Given the description of an element on the screen output the (x, y) to click on. 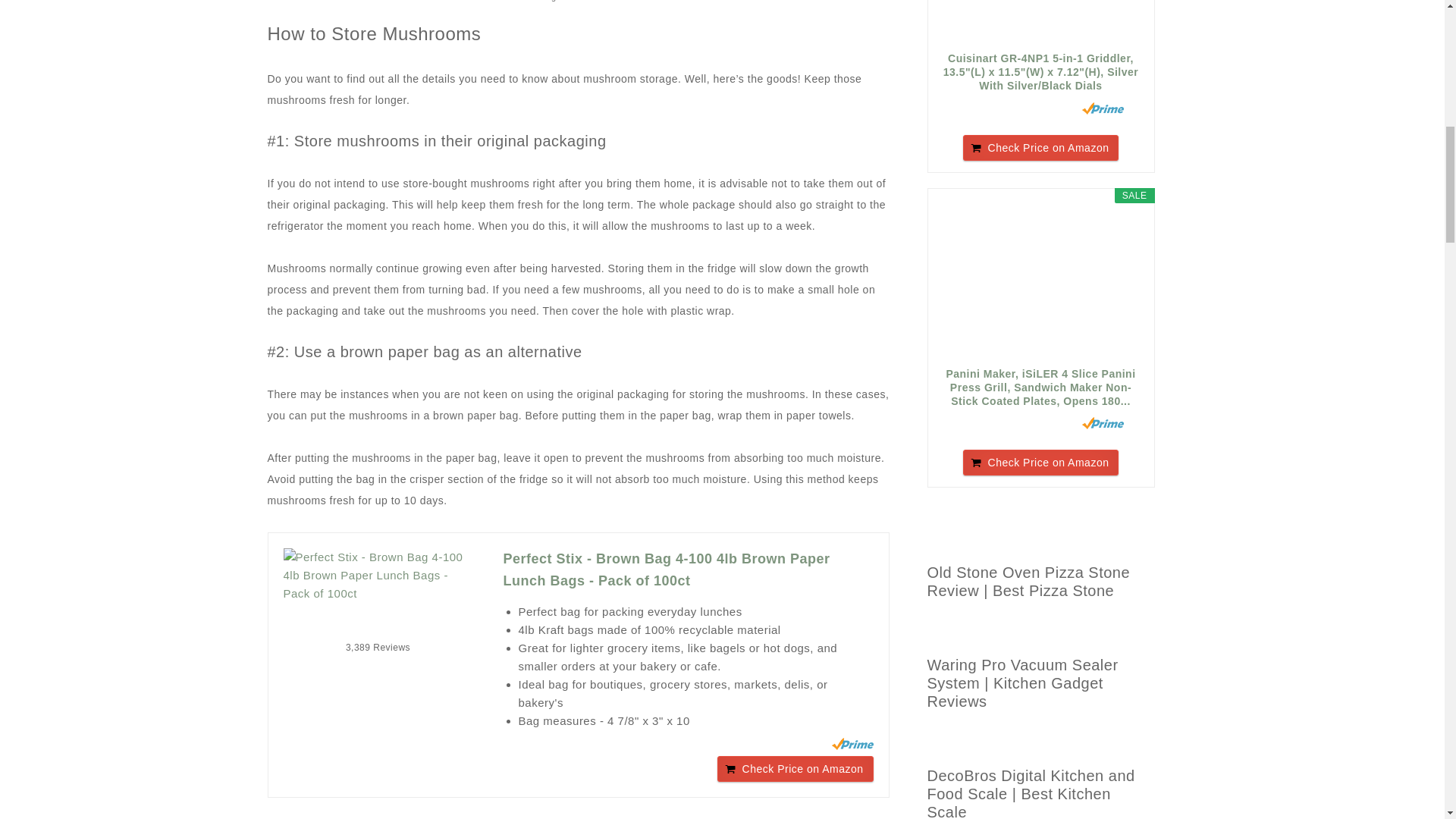
Check Price on Amazon (795, 768)
Check Price on Amazon (1040, 147)
Amazon Prime (851, 743)
Reviews on Amazon (1014, 108)
Amazon Prime (1102, 108)
Reviews on Amazon (378, 625)
Check Price on Amazon (795, 768)
